Given the description of an element on the screen output the (x, y) to click on. 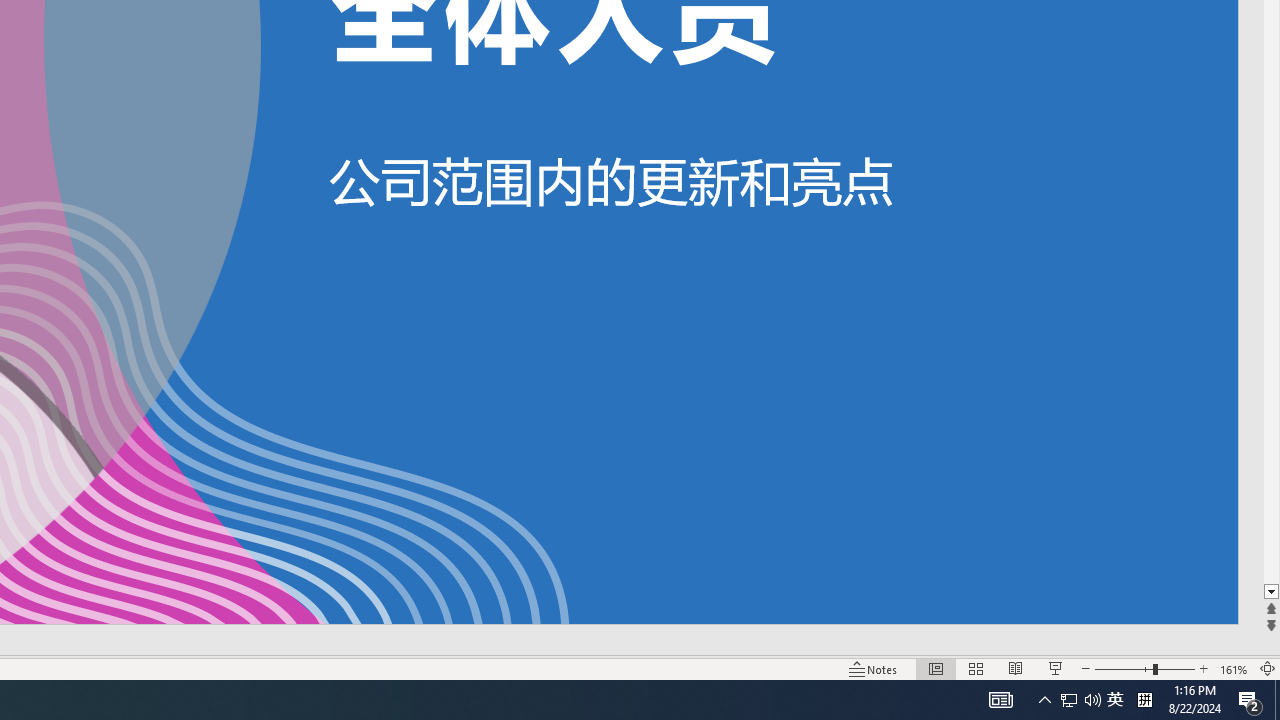
Zoom 161% (1234, 668)
